Given the description of an element on the screen output the (x, y) to click on. 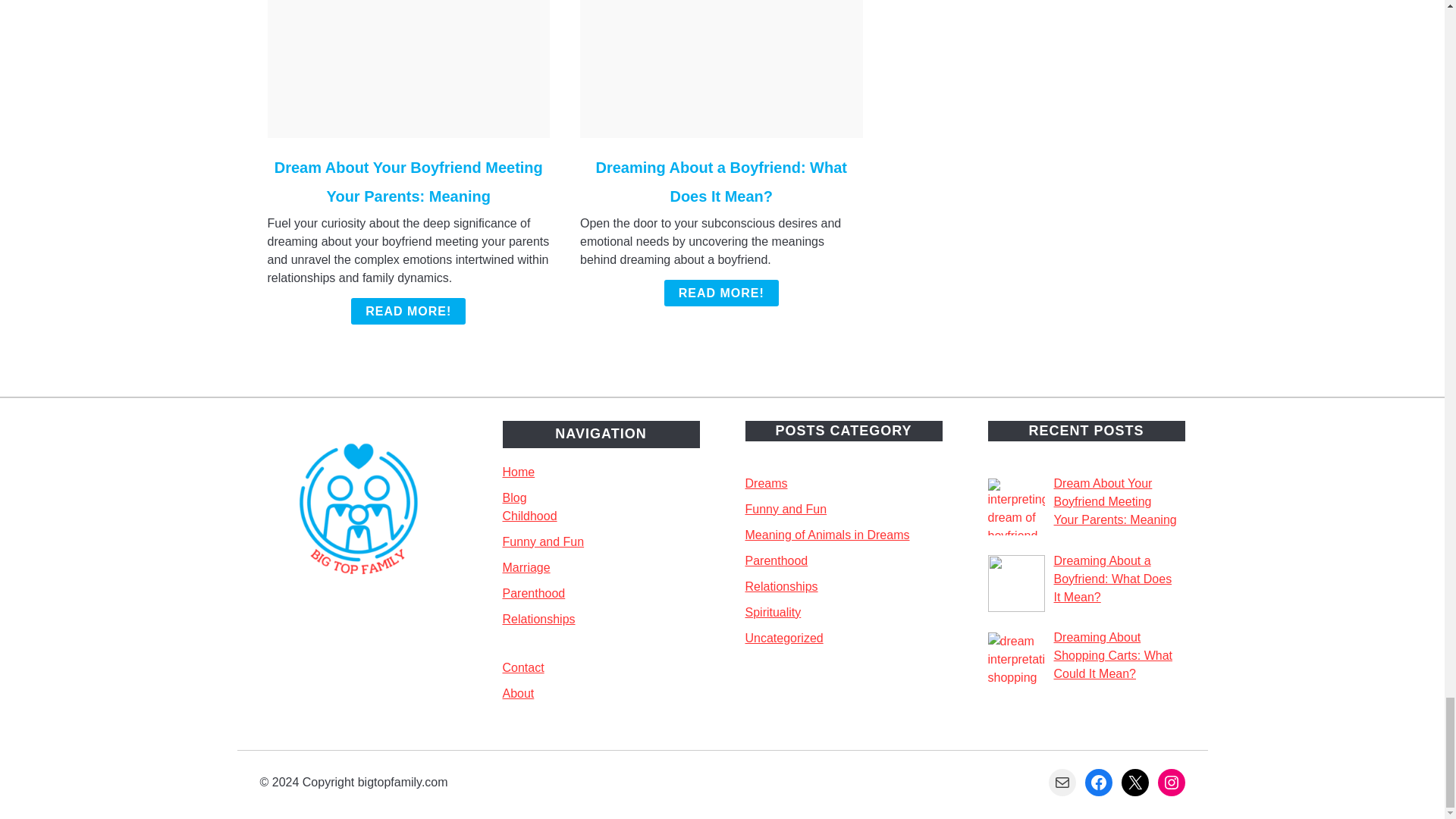
READ MORE! (407, 311)
Dream About Your Boyfriend Meeting Your Parents: Meaning (409, 181)
Dreaming About a Boyfriend: What Does It Mean? (721, 181)
link to Dreaming About a Boyfriend: What Does It Mean? (721, 69)
READ MORE! (720, 293)
